Given the description of an element on the screen output the (x, y) to click on. 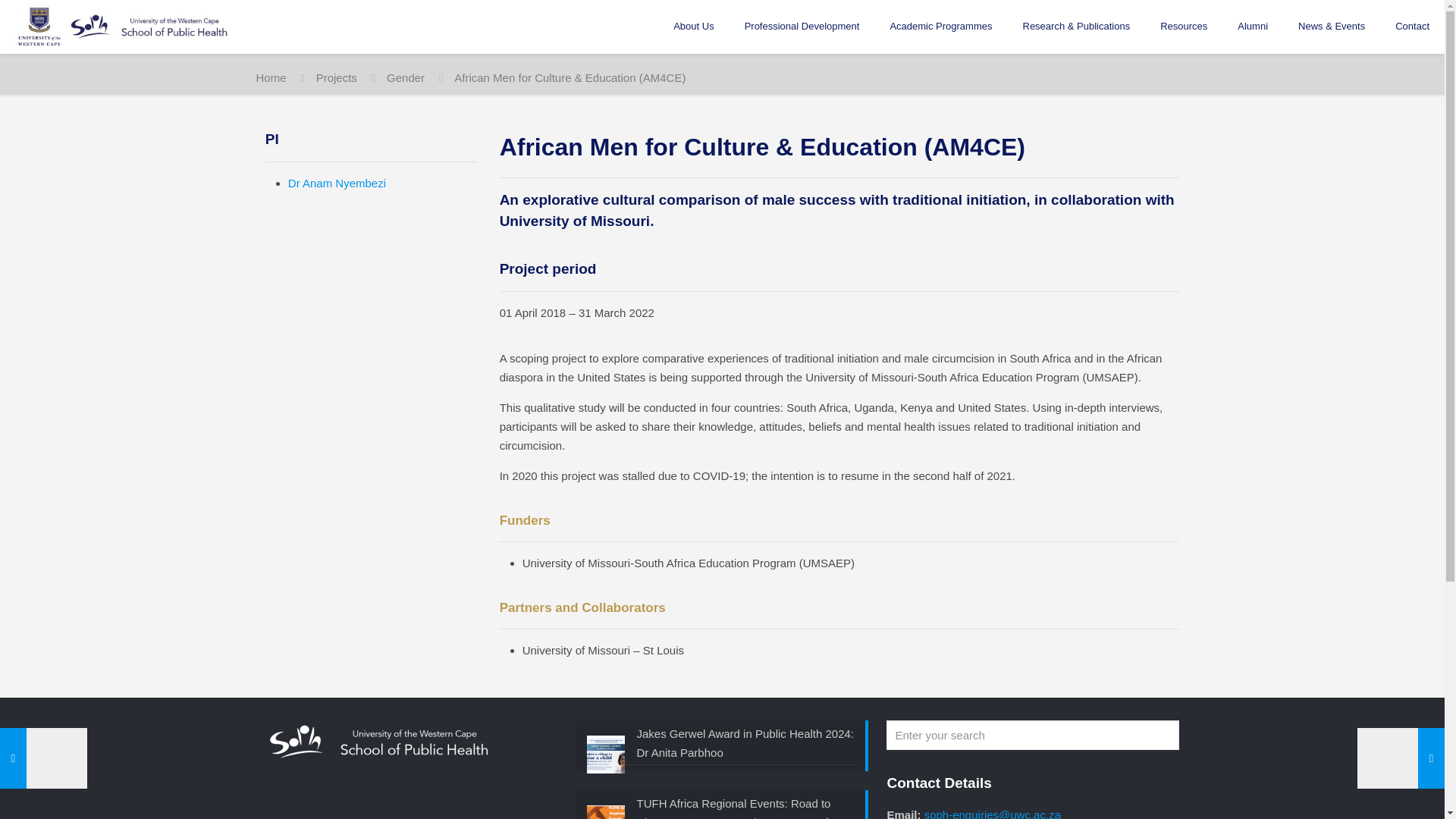
Professional Development (802, 26)
Gender (406, 77)
Alumni (1252, 26)
About Us (693, 26)
Resources (1183, 26)
Dr Anam Nyembezi (336, 182)
Dr Anam Nyembezi (336, 182)
Projects (335, 77)
University of the Western Cape - School of Public Health (122, 26)
Academic Programmes (941, 26)
Jakes Gerwel Award in Public Health 2024: Dr Anita Parbhoo (721, 743)
Home (271, 77)
